Given the description of an element on the screen output the (x, y) to click on. 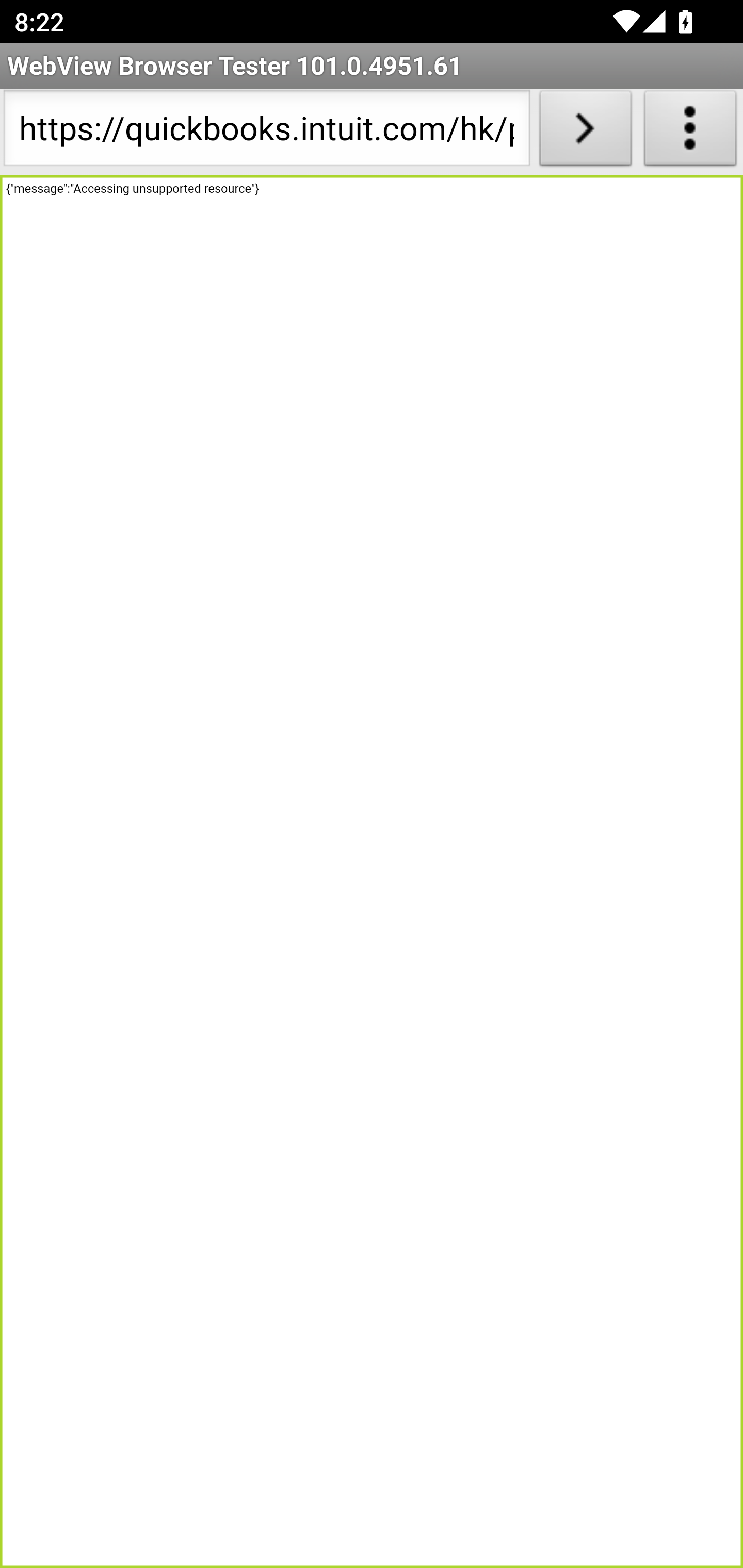
Load URL (585, 132)
About WebView (690, 132)
